Given the description of an element on the screen output the (x, y) to click on. 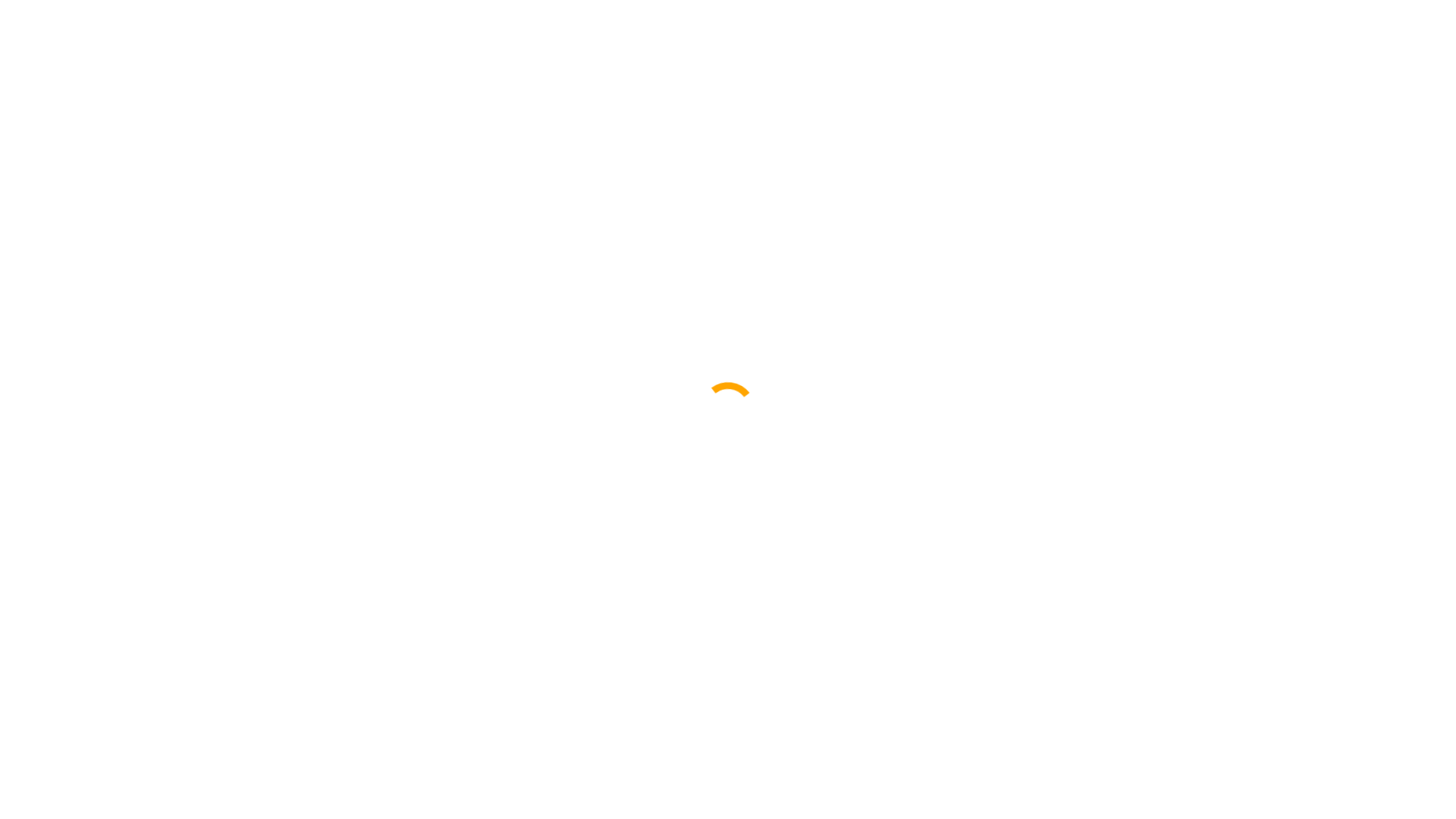
linomedia Element type: text (678, 712)
Start Element type: text (497, 135)
Datenschutz Element type: text (537, 712)
Kursanmeldung/Kontakt Element type: text (901, 135)
Die Babymassage Element type: text (584, 135)
Weitere Informationen Element type: text (953, 592)
Kursangebot Element type: text (771, 135)
kurs@babymassage-sg.ch Element type: text (1067, 10)
Das Team Element type: text (684, 135)
